Given the description of an element on the screen output the (x, y) to click on. 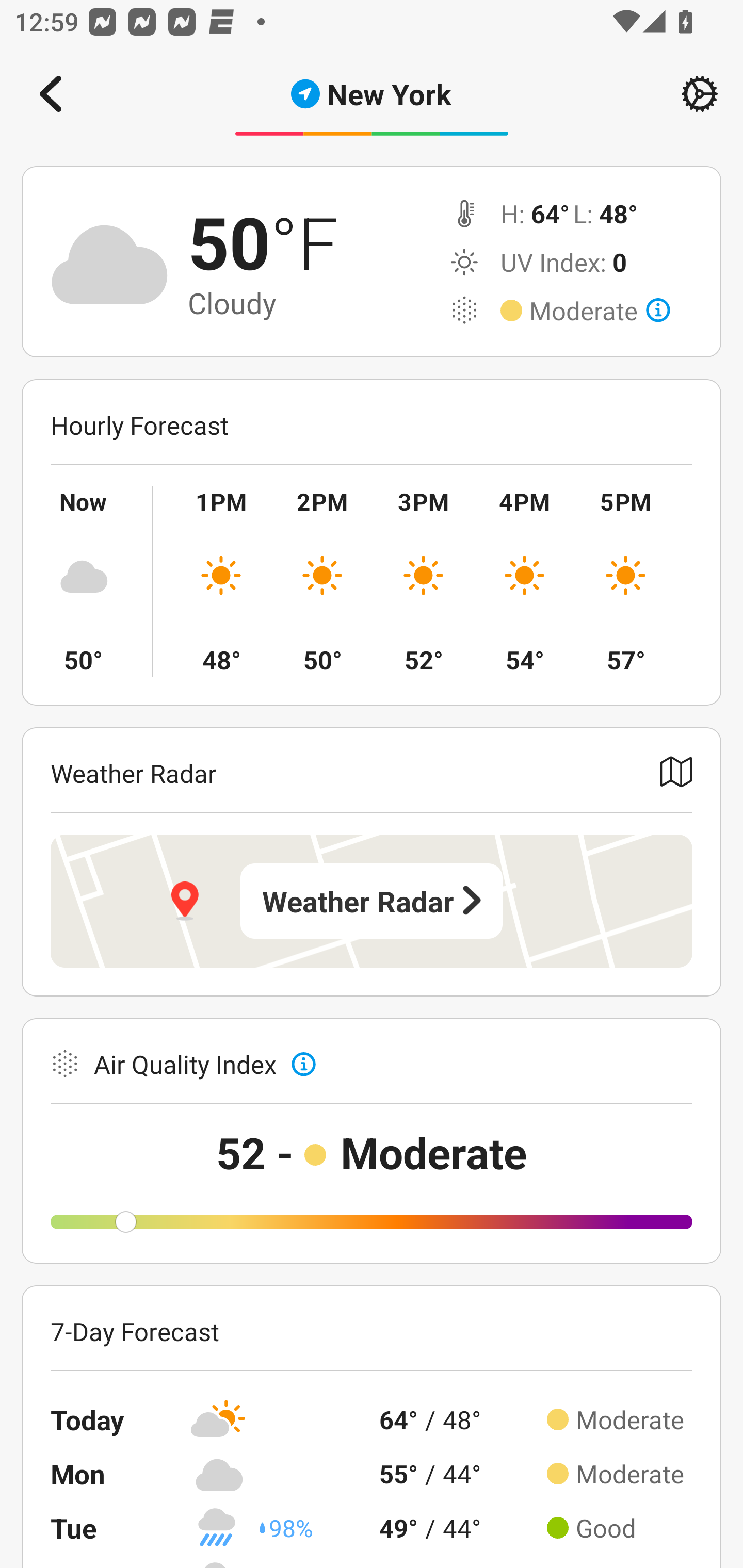
Navigate up (50, 93)
Setting (699, 93)
Moderate (599, 310)
Weather Radar (371, 900)
